Given the description of an element on the screen output the (x, y) to click on. 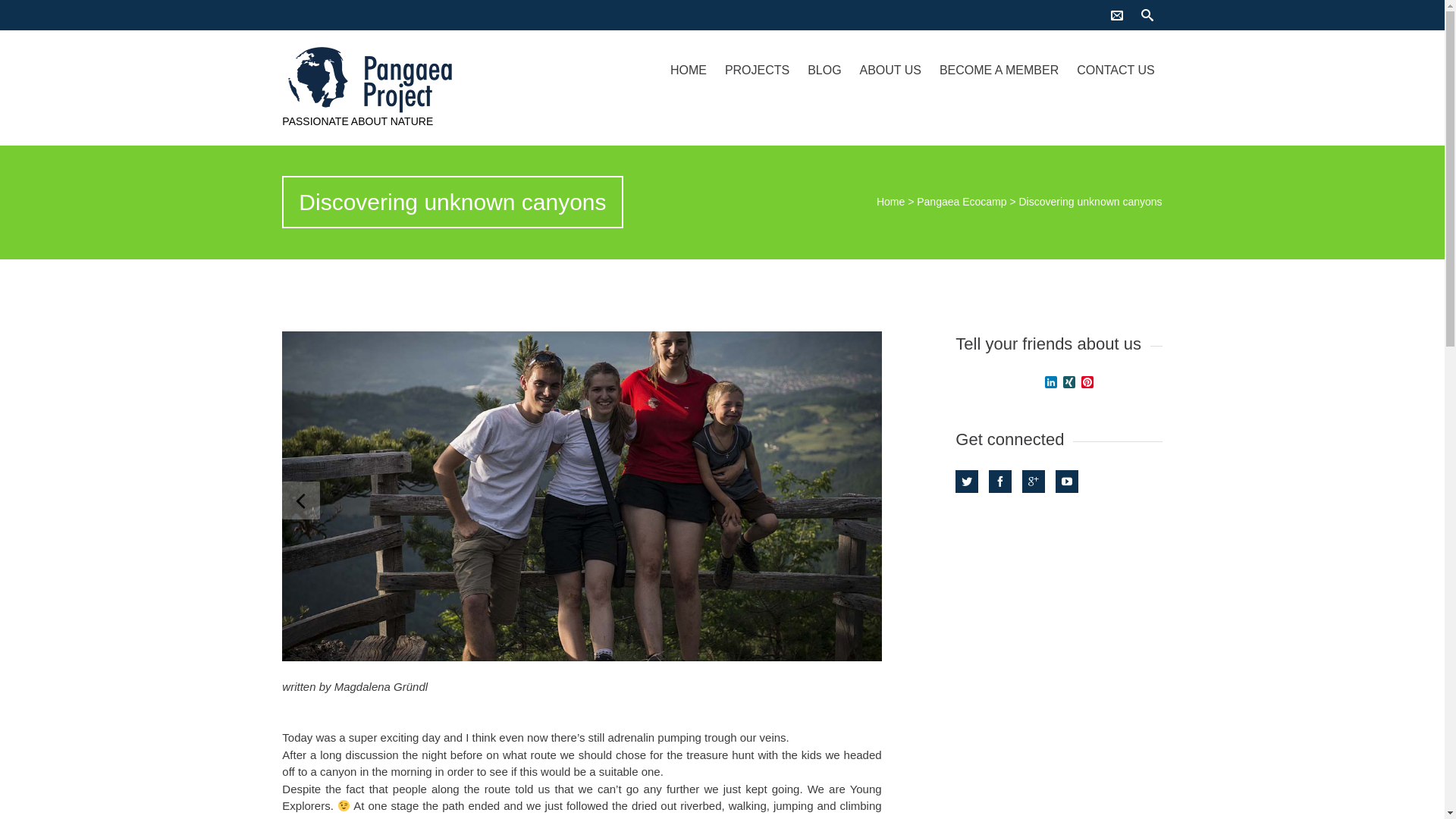
LinkedIn (1050, 382)
Pangaea Project - Passionate about Nature (413, 79)
BECOME A MEMBER (998, 70)
CONTACT US (1114, 70)
XING (1068, 382)
BLOG (823, 70)
Pangaea Ecocamp (961, 201)
Search (20, 11)
ABOUT US (889, 70)
Previous (301, 500)
PROJECTS (756, 70)
Home (890, 201)
HOME (688, 70)
Pinterest (1087, 382)
